Given the description of an element on the screen output the (x, y) to click on. 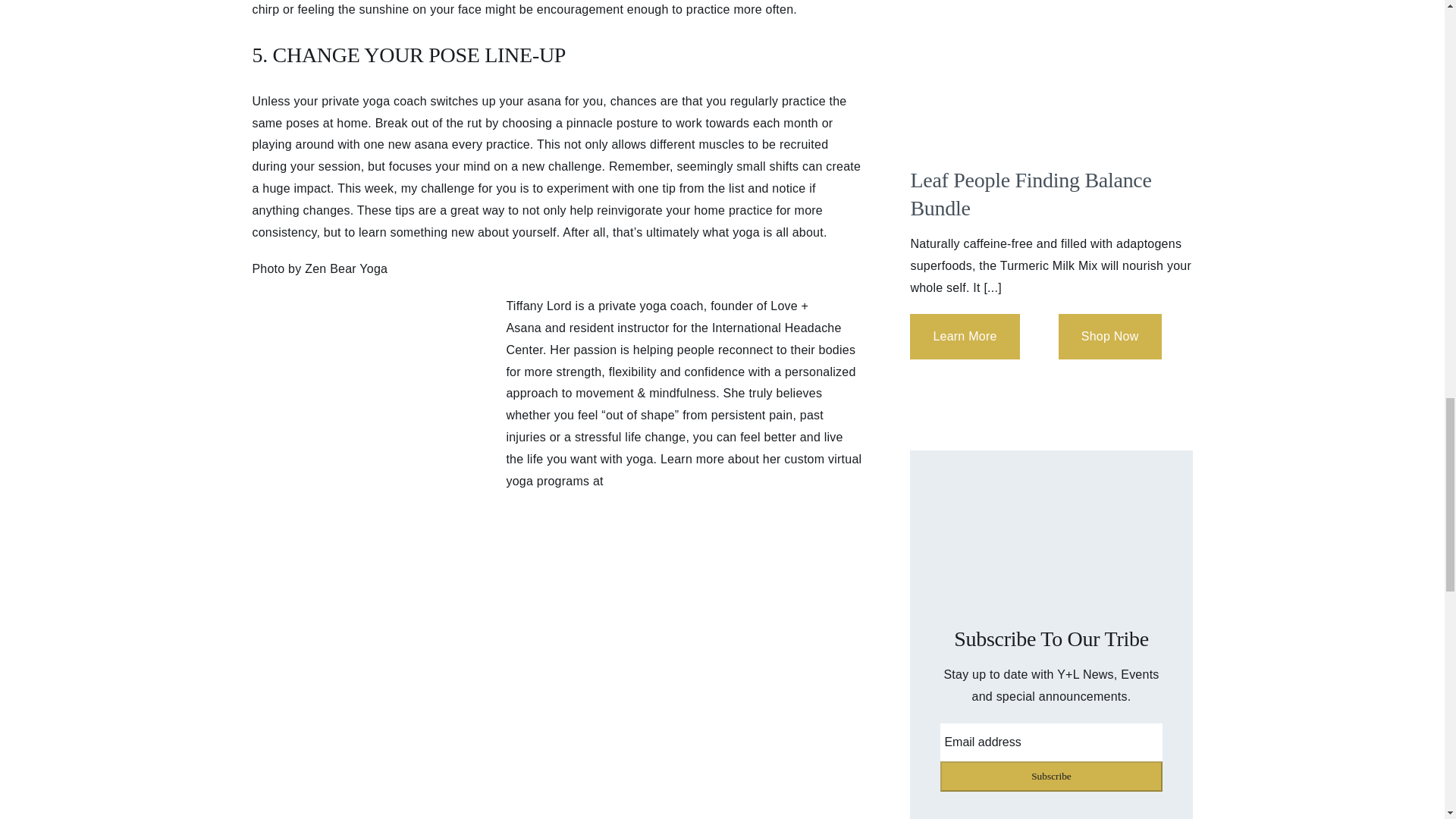
Subscribe (1050, 776)
Email address (1050, 742)
